Given the description of an element on the screen output the (x, y) to click on. 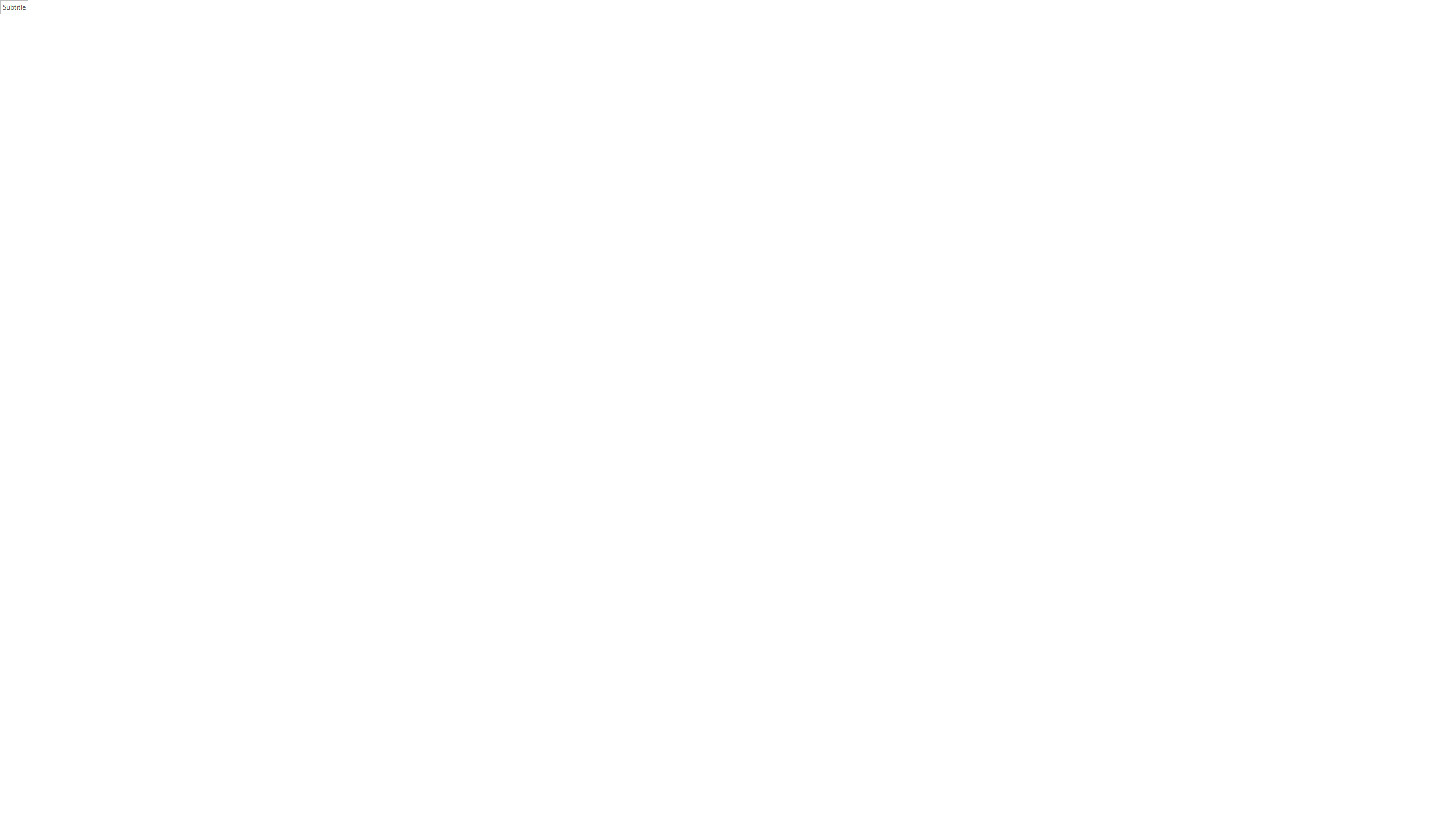
Justify (340, 67)
Book Title (1055, 56)
Results (91, 150)
Subtle Reference (973, 56)
Microsoft search (742, 9)
Superscript (180, 67)
Intense Reference (1014, 56)
Subtitle (686, 56)
Subscript (167, 67)
Intense Quote (932, 56)
